Given the description of an element on the screen output the (x, y) to click on. 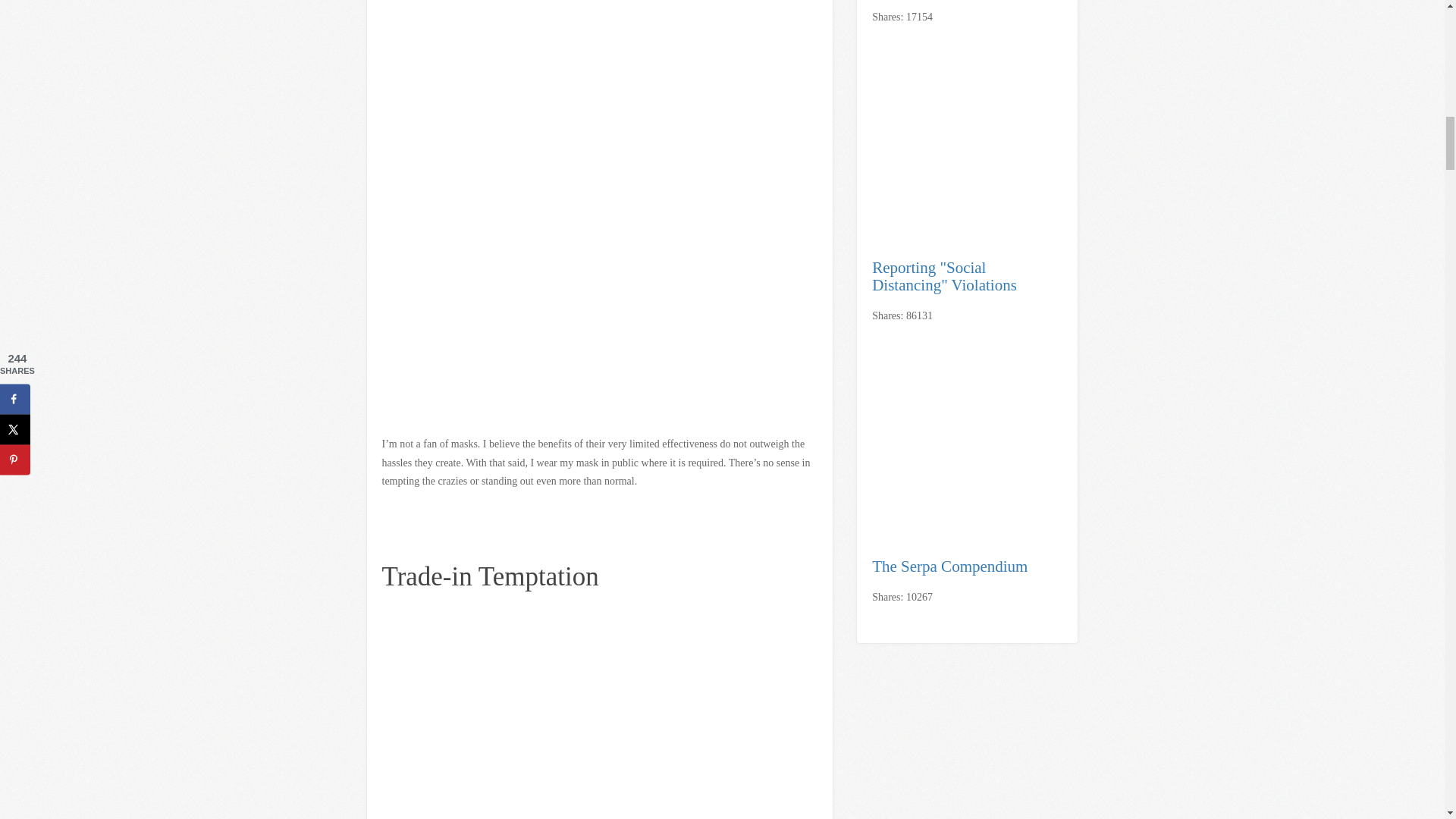
Trade-in Temptation (489, 576)
